Given the description of an element on the screen output the (x, y) to click on. 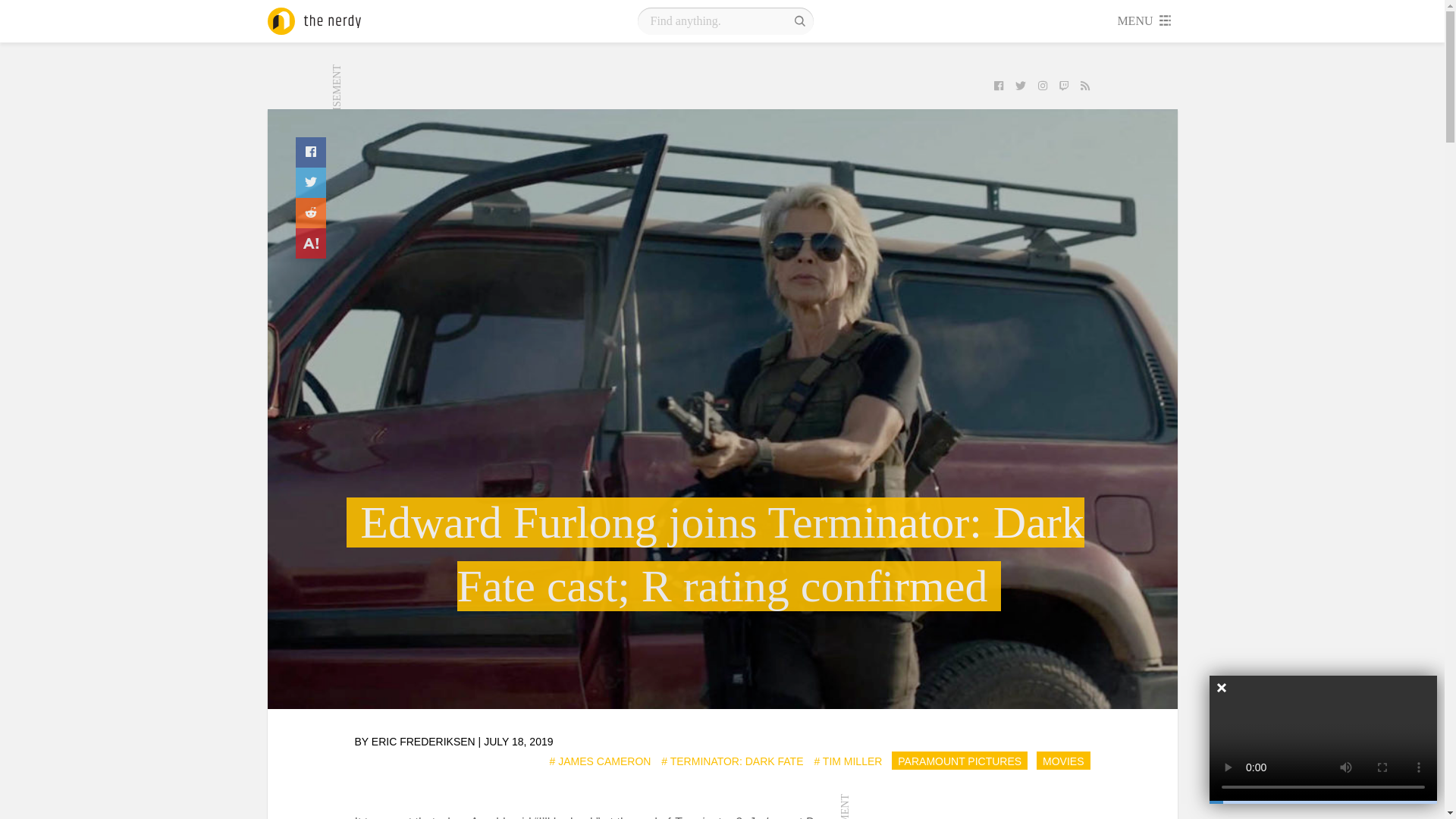
MENU (1145, 21)
Submit to Reddit (310, 213)
Share on Facebook (310, 152)
Follow this story with AlertMe (310, 243)
Share on Twitter (310, 182)
PARAMOUNT PICTURES (959, 760)
MOVIES (1062, 760)
